Given the description of an element on the screen output the (x, y) to click on. 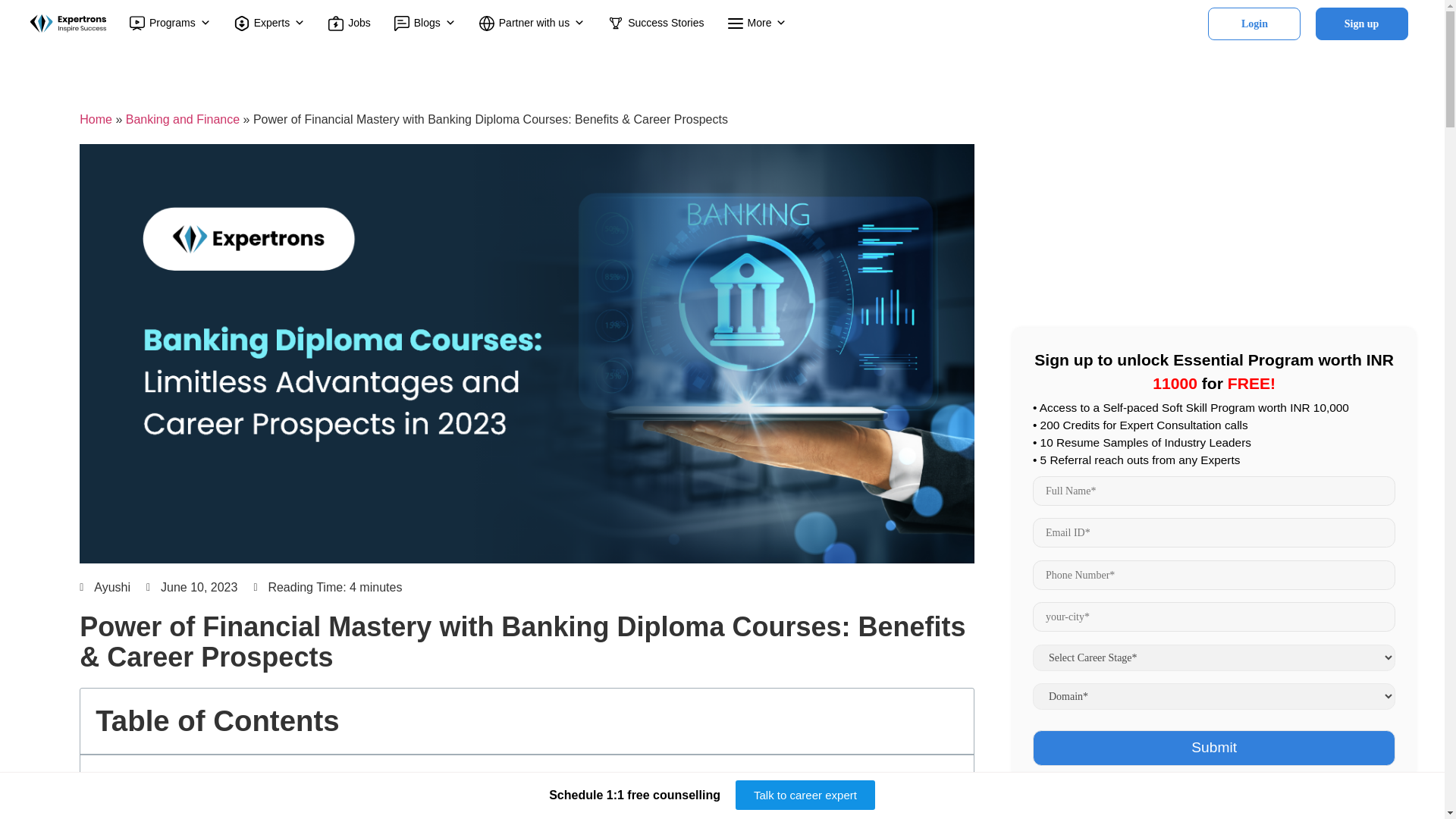
Submit (1213, 747)
Programs (170, 22)
Banking and Finance (182, 119)
Home (96, 119)
